Given the description of an element on the screen output the (x, y) to click on. 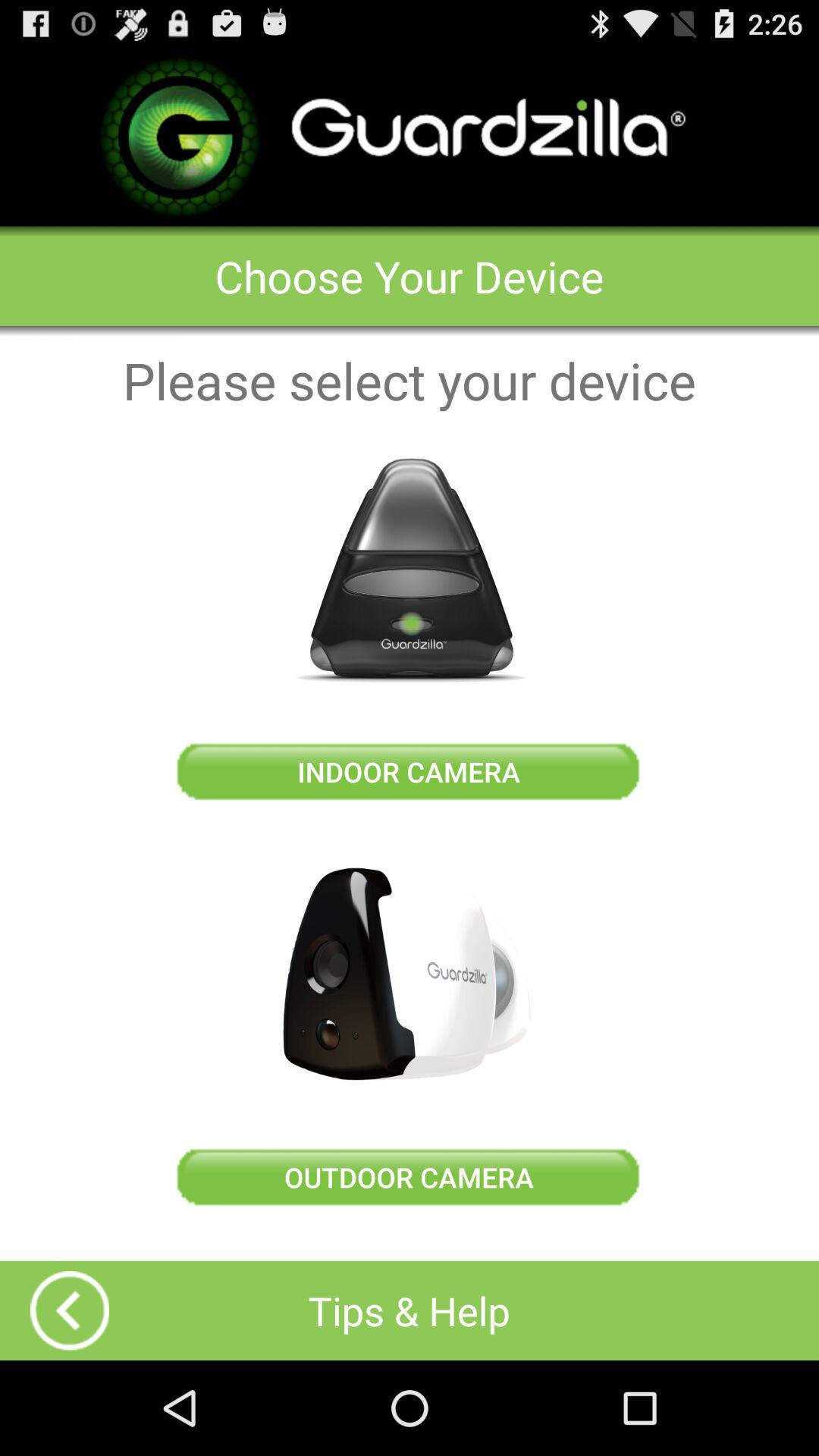
select device (408, 973)
